Given the description of an element on the screen output the (x, y) to click on. 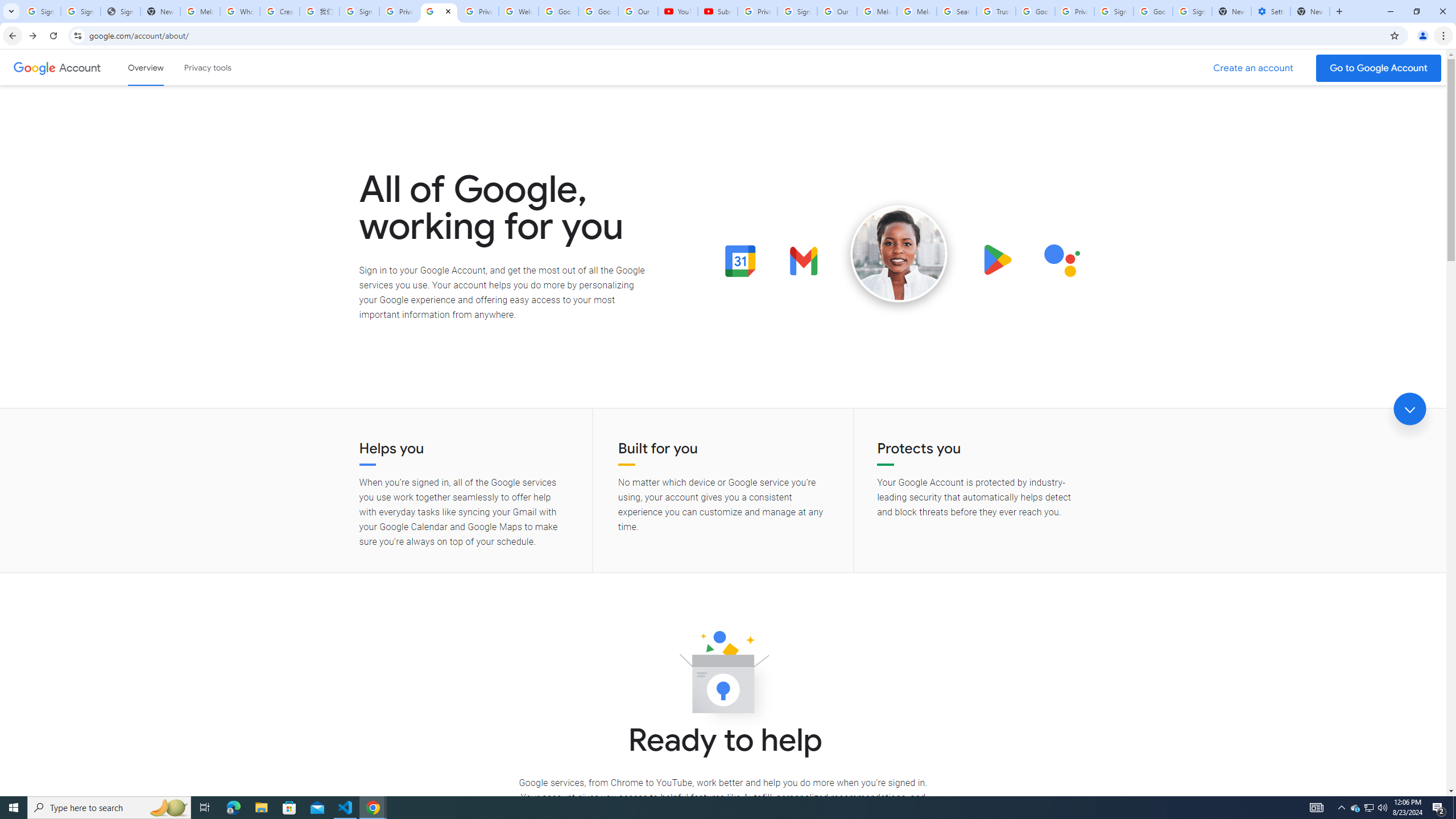
YouTube (677, 11)
Sign in - Google Accounts (359, 11)
Google Account overview (145, 67)
Skip to Content (162, 65)
Privacy tools (207, 67)
New Tab (1310, 11)
Subscriptions - YouTube (717, 11)
Google Ads - Sign in (1034, 11)
Jump link (1409, 408)
Google Account (598, 11)
